Given the description of an element on the screen output the (x, y) to click on. 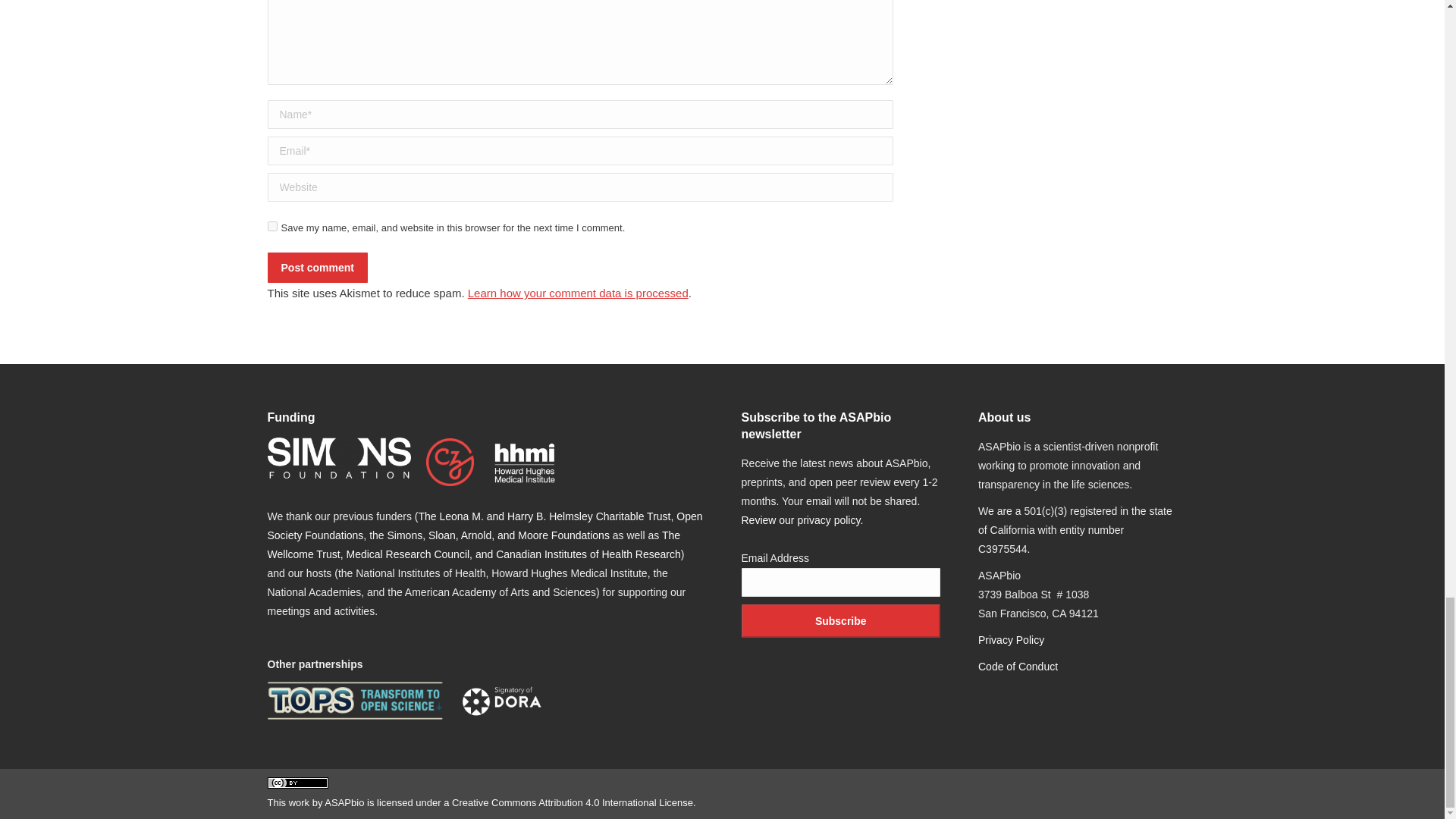
yes (271, 225)
Subscribe (840, 621)
